Given the description of an element on the screen output the (x, y) to click on. 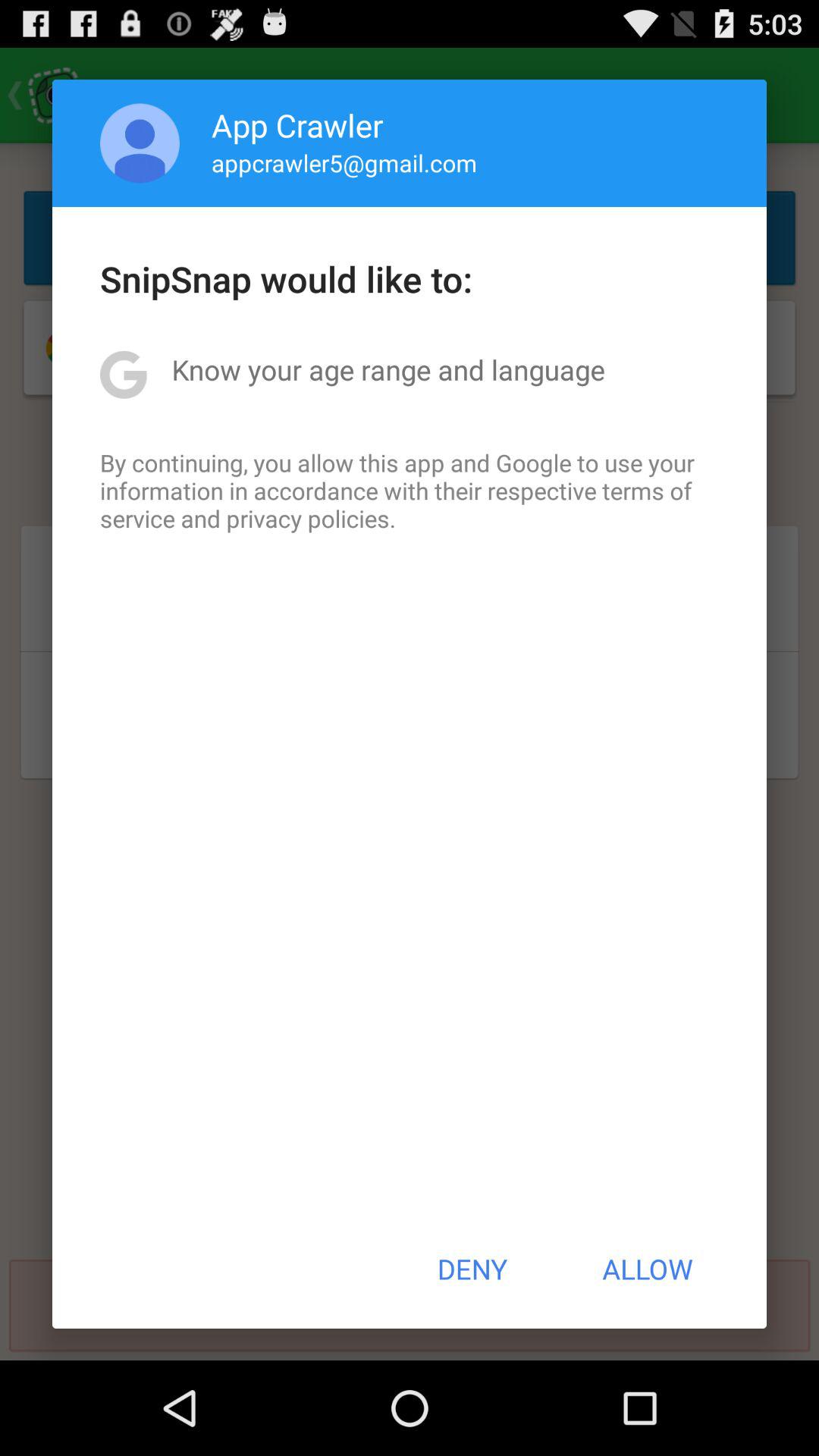
click the item at the bottom (471, 1268)
